Given the description of an element on the screen output the (x, y) to click on. 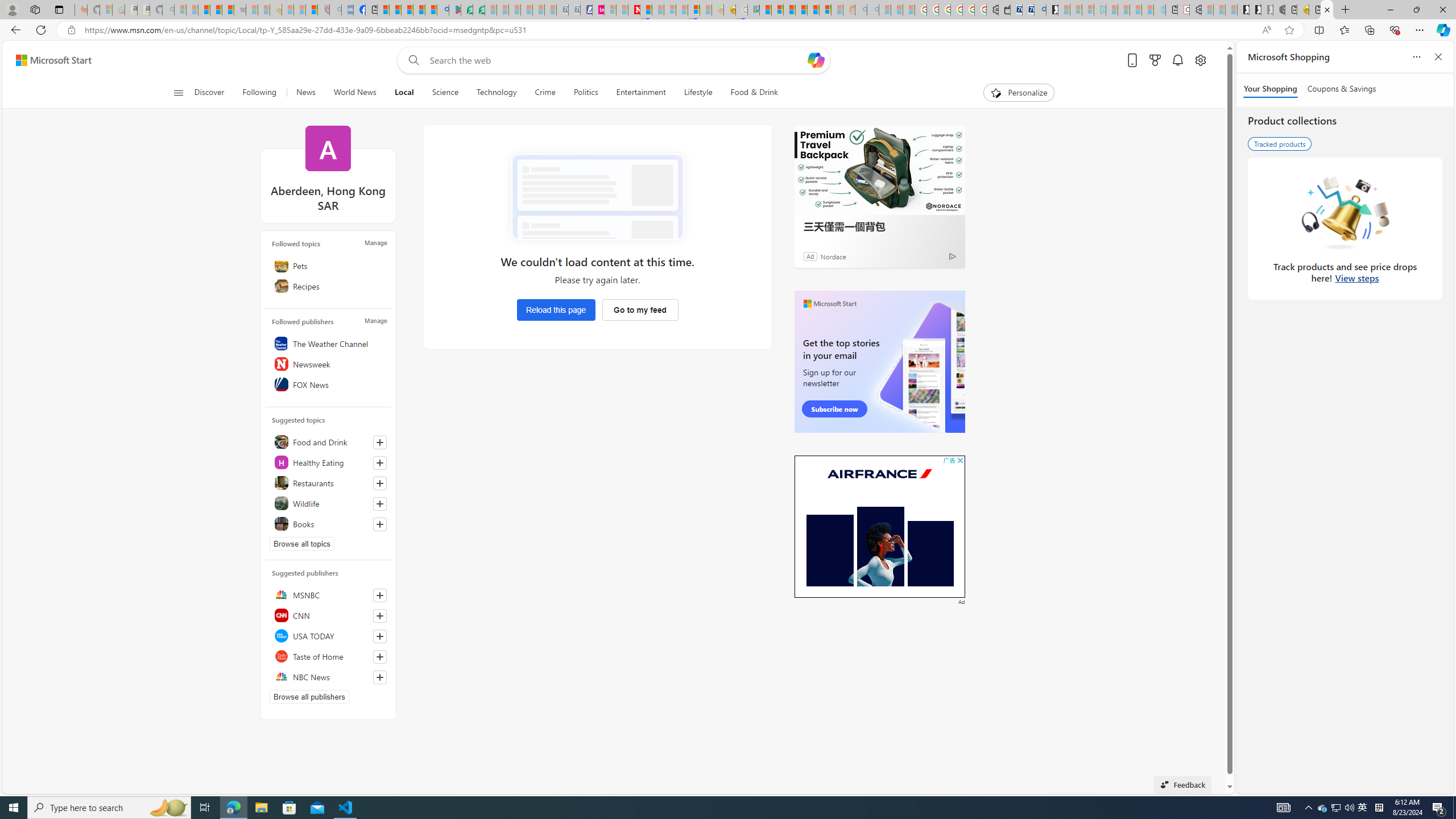
Cheap Car Rentals - Save70.com (1028, 9)
Follow this topic (379, 524)
Go to my feed (639, 309)
Microsoft Word - consumer-privacy address update 2.2021 (478, 9)
Cheap Hotels - Save70.com - Sleeping (574, 9)
Science (444, 92)
